Given the description of an element on the screen output the (x, y) to click on. 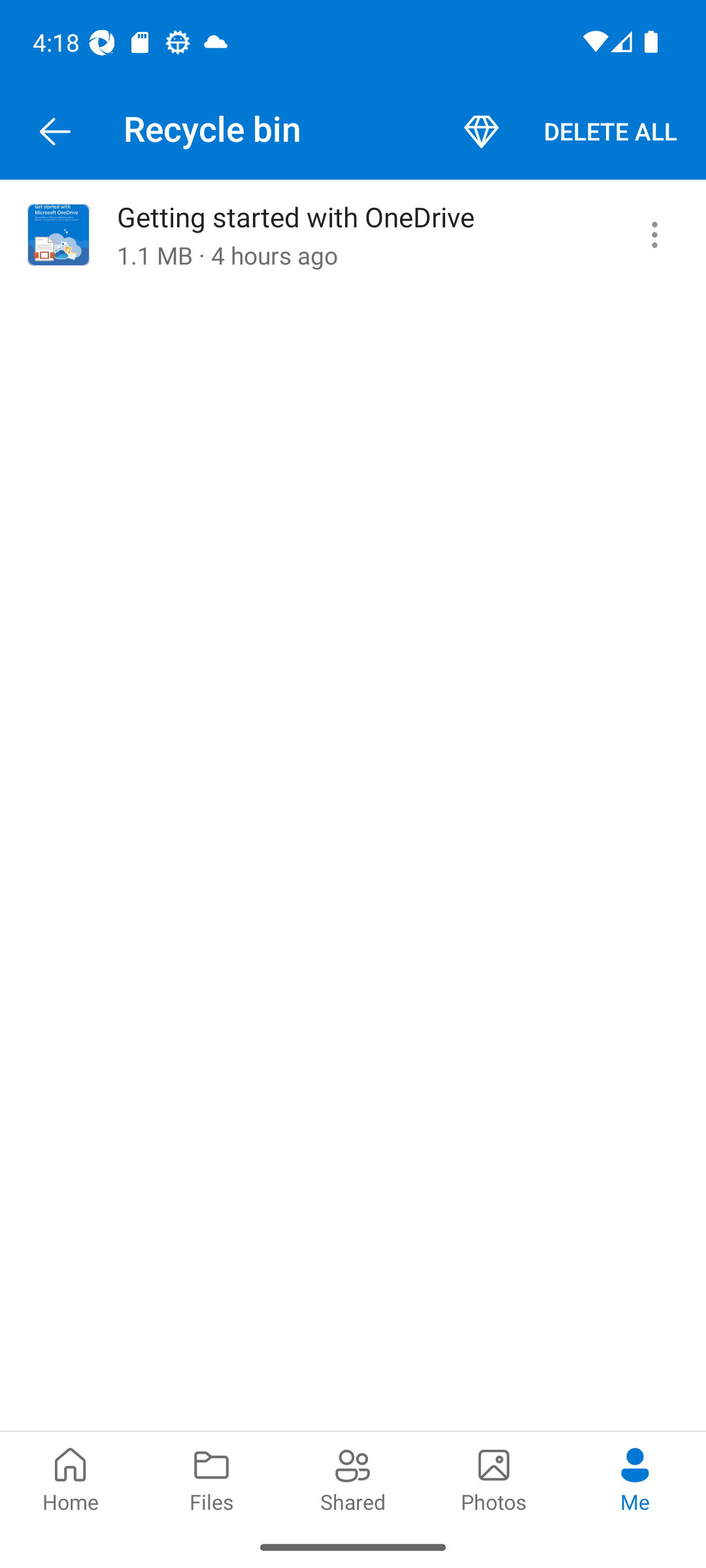
Navigate Up (55, 131)
Premium button (481, 131)
DELETE ALL Delete all button (610, 131)
Getting started with OneDrive commands (654, 235)
Home pivot Home (70, 1478)
Files pivot Files (211, 1478)
Shared pivot Shared (352, 1478)
Photos pivot Photos (493, 1478)
